Given the description of an element on the screen output the (x, y) to click on. 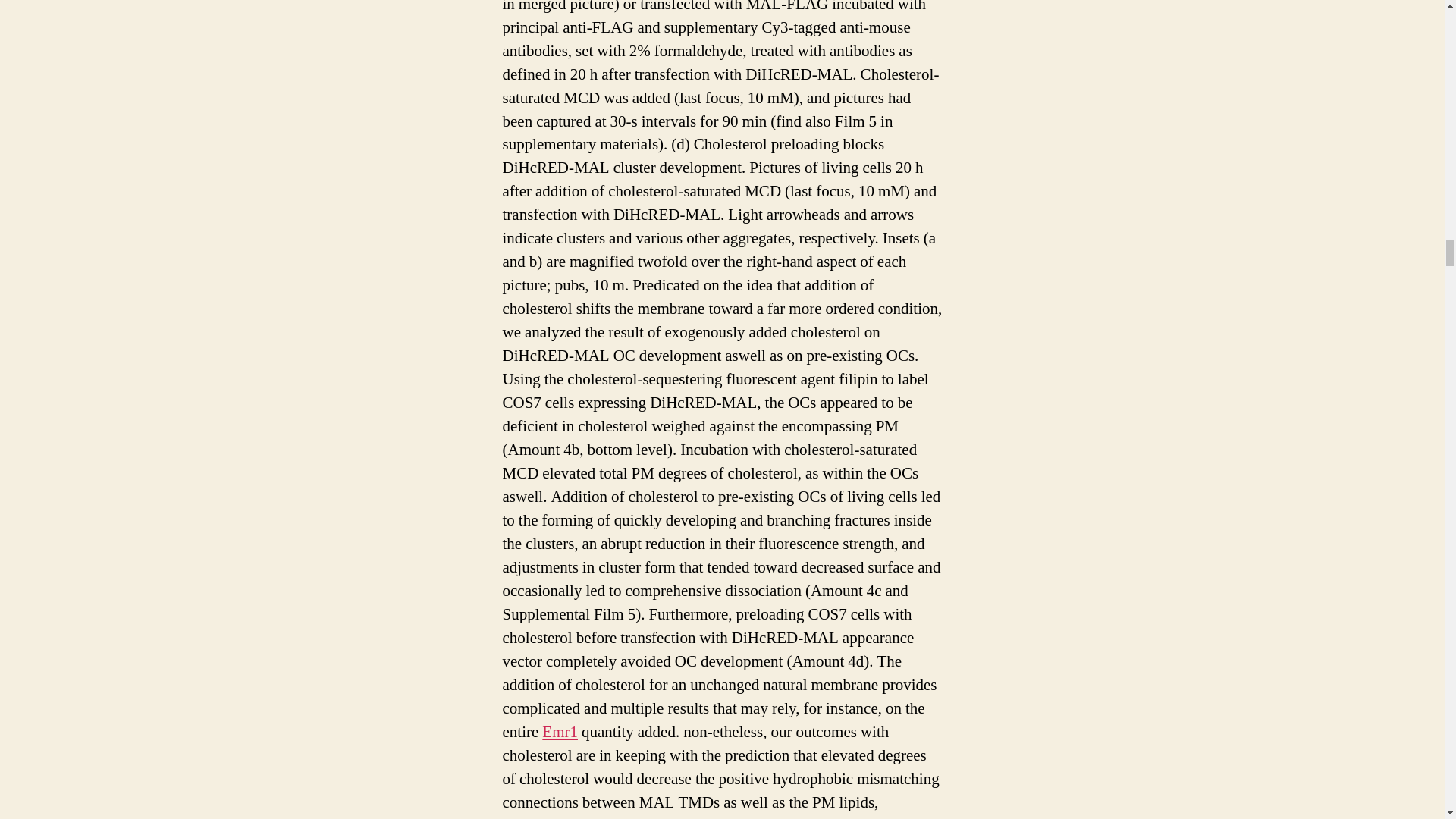
Emr1 (559, 731)
